Given the description of an element on the screen output the (x, y) to click on. 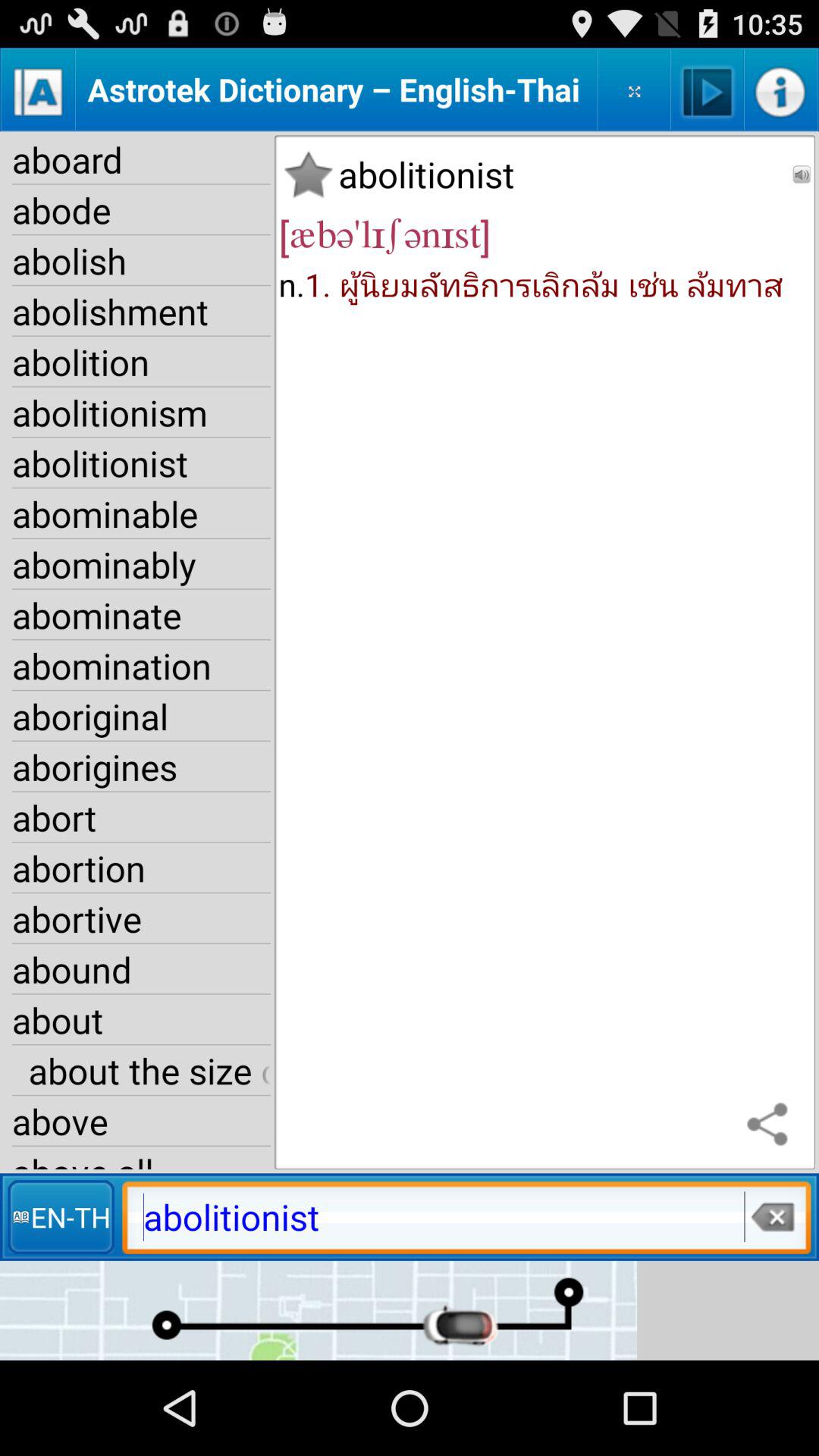
song playmusic (707, 89)
